Given the description of an element on the screen output the (x, y) to click on. 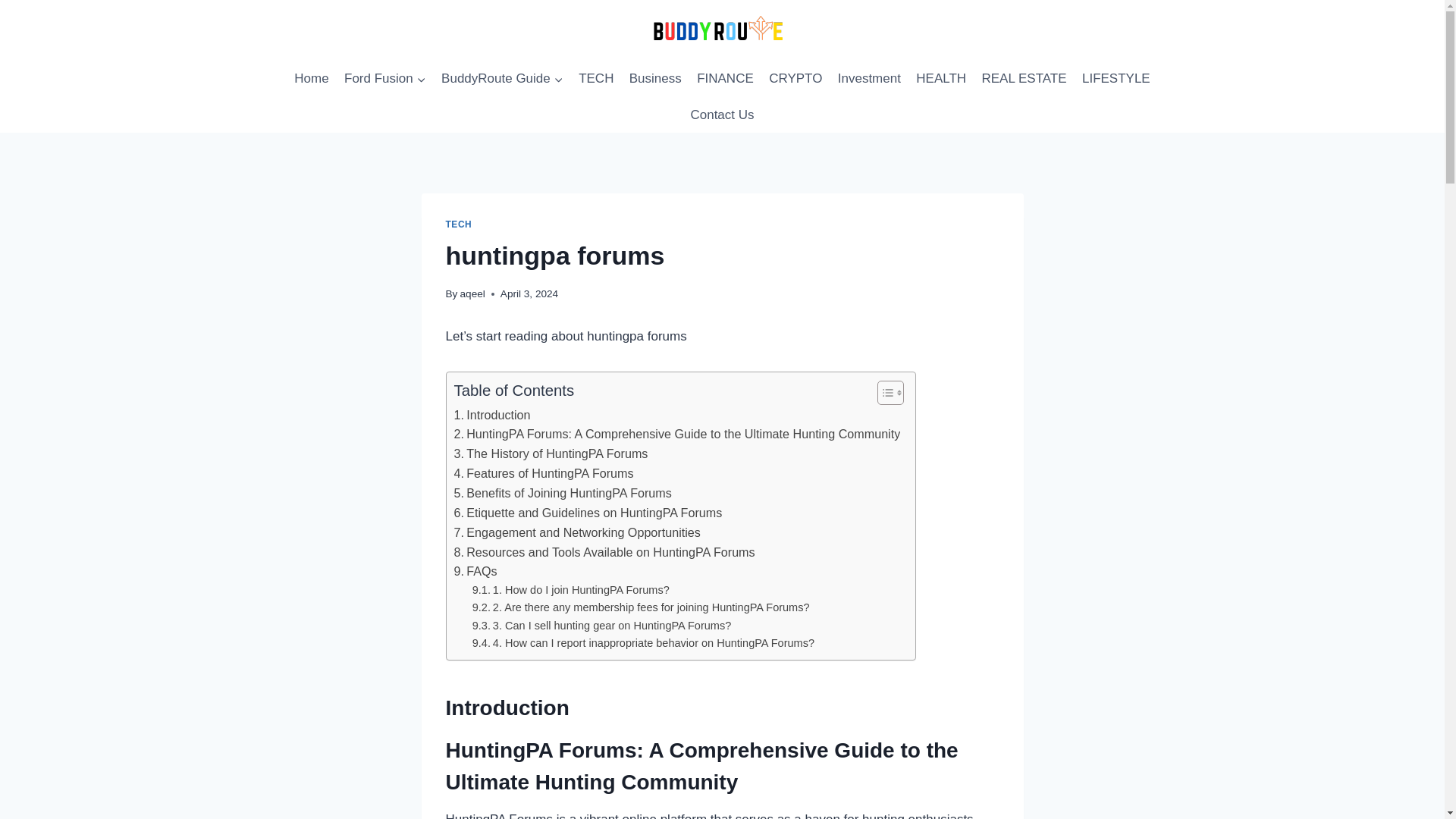
Engagement and Networking Opportunities (576, 532)
FAQs (474, 571)
Features of HuntingPA Forums (542, 474)
Home (311, 78)
Introduction (490, 415)
The History of HuntingPA Forums (549, 454)
Resources and Tools Available on HuntingPA Forums (603, 552)
Benefits of Joining HuntingPA Forums (561, 493)
